Given the description of an element on the screen output the (x, y) to click on. 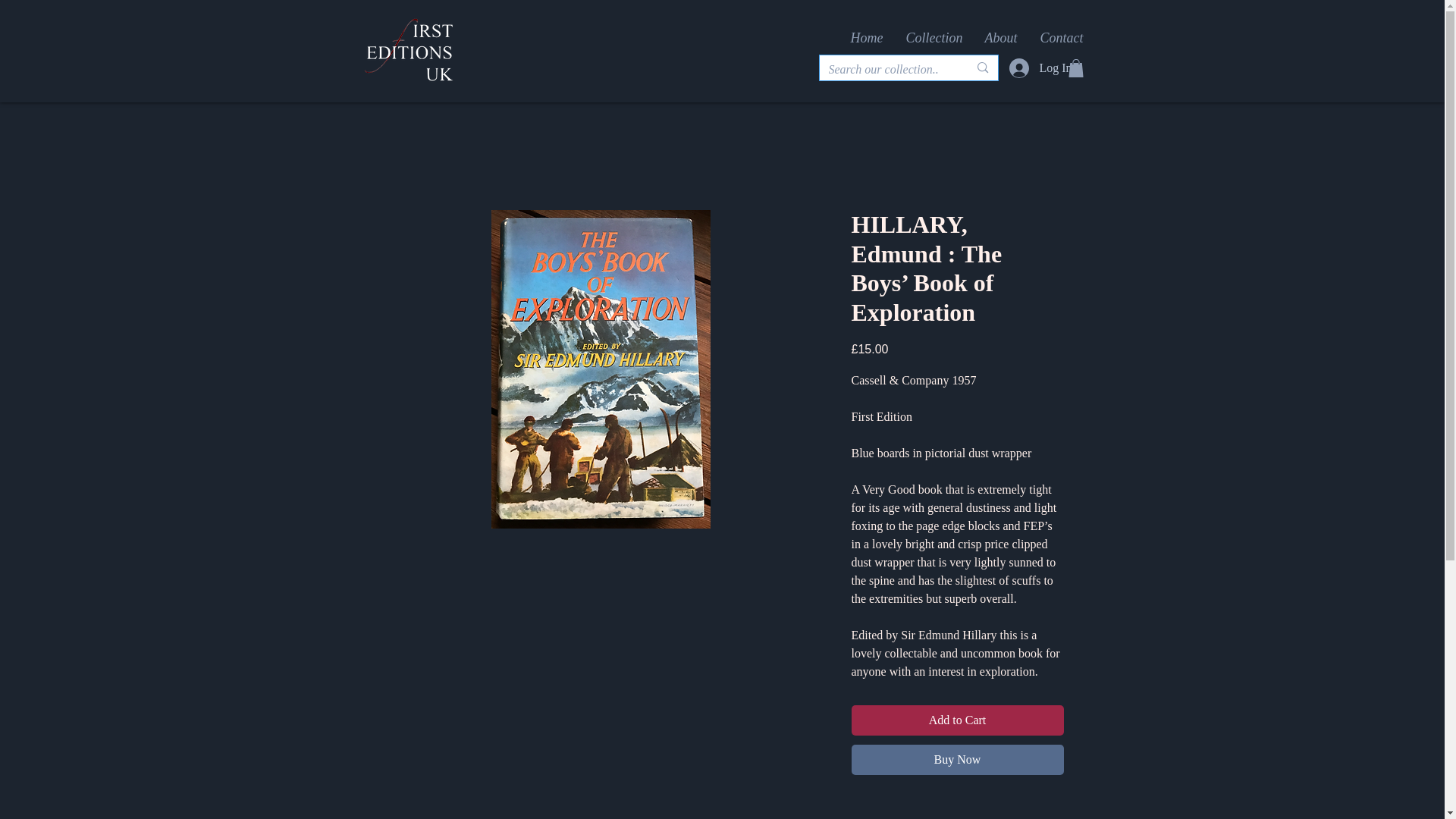
Add to Cart (956, 720)
Buy Now (956, 759)
Collection (934, 37)
Log In (1028, 68)
Contact (1060, 37)
Home (865, 37)
About (1001, 37)
